Given the description of an element on the screen output the (x, y) to click on. 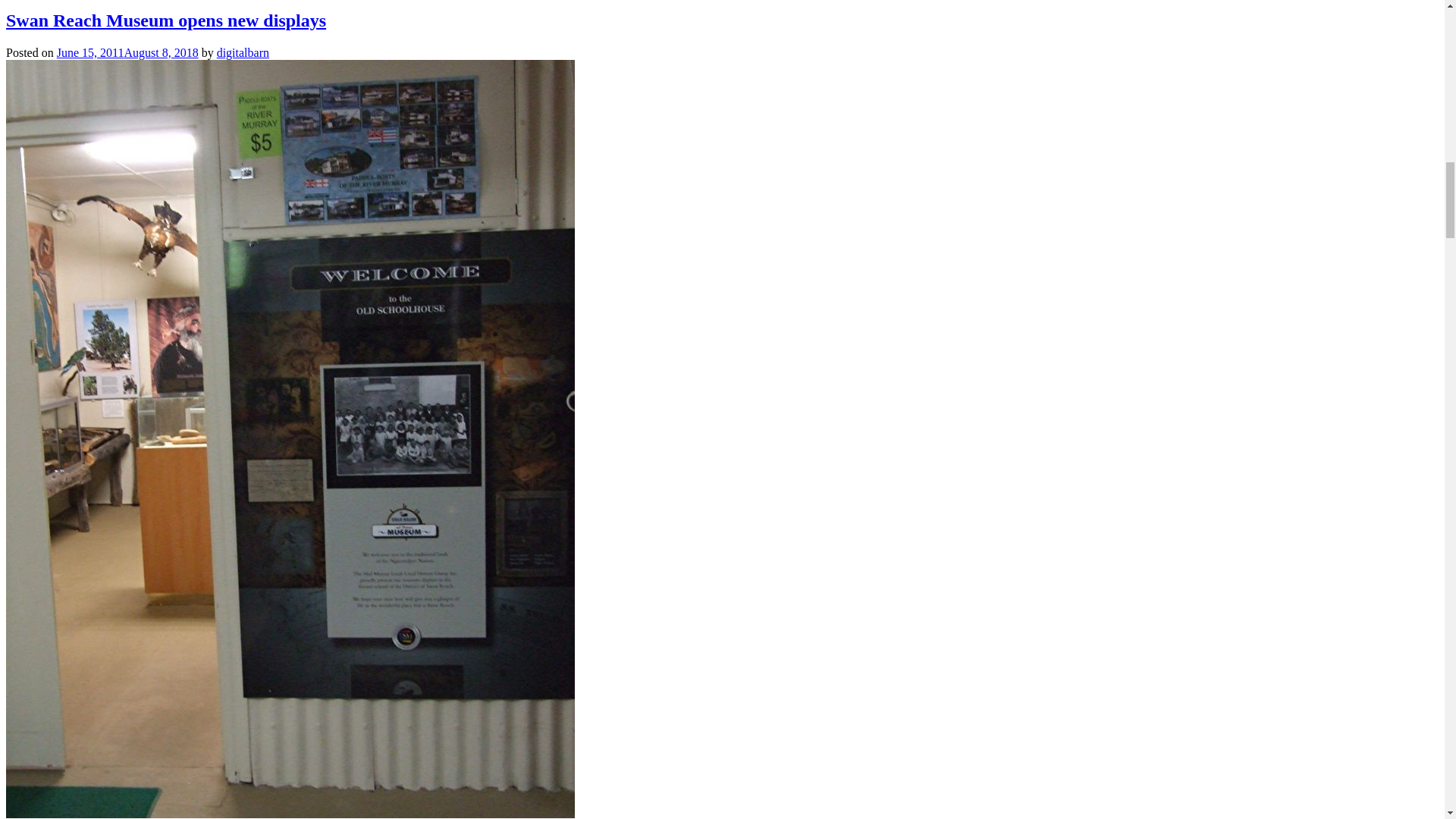
digitalbarn (242, 51)
June 15, 2011August 8, 2018 (127, 51)
Swan Reach Museum opens new displays (165, 20)
